Given the description of an element on the screen output the (x, y) to click on. 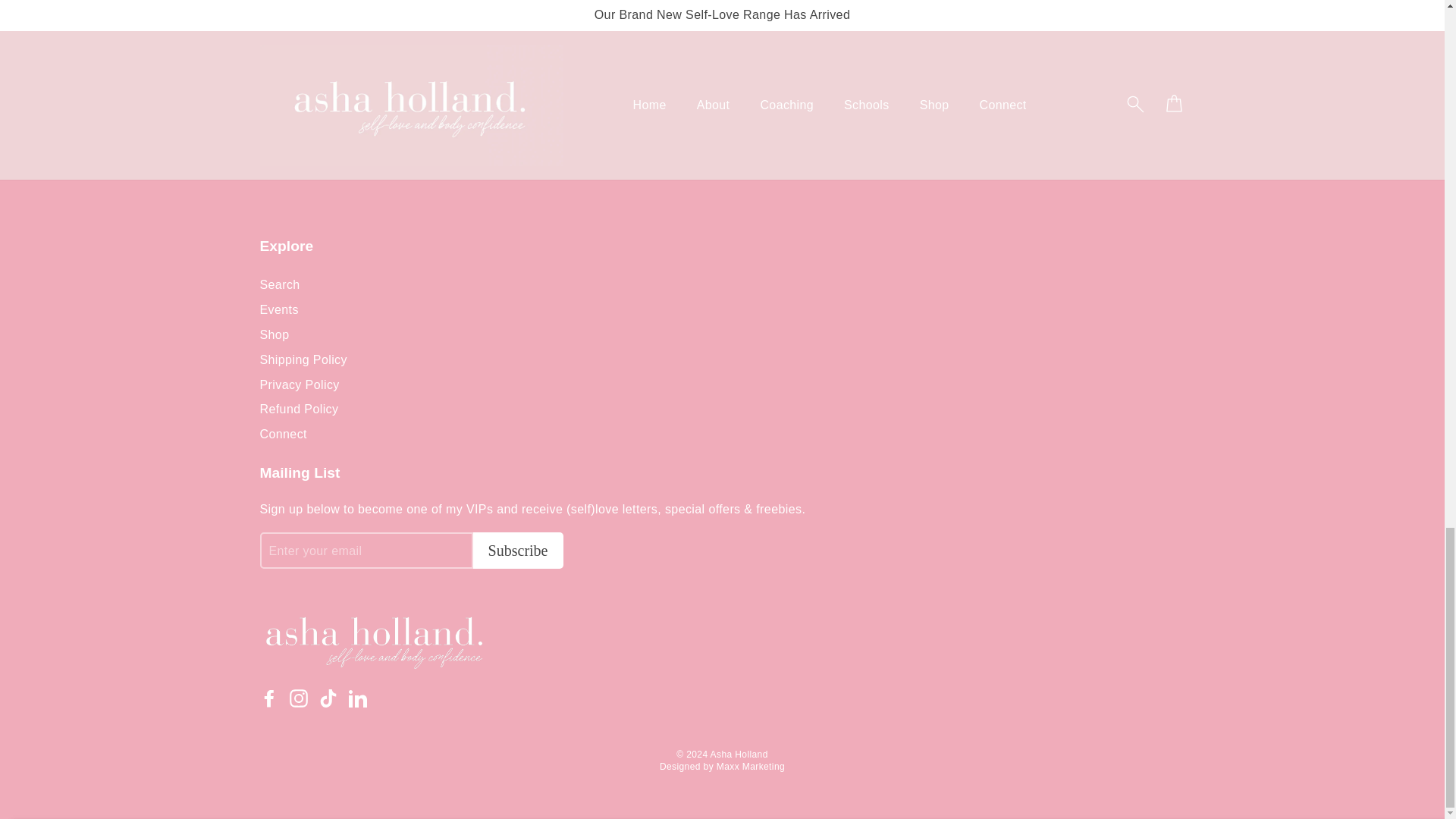
Asha Holland on Facebook (268, 698)
Asha Holland on Instagram (298, 698)
Asha Holland on LinkedIn (357, 698)
Asha Holland on TikTok (327, 698)
